Given the description of an element on the screen output the (x, y) to click on. 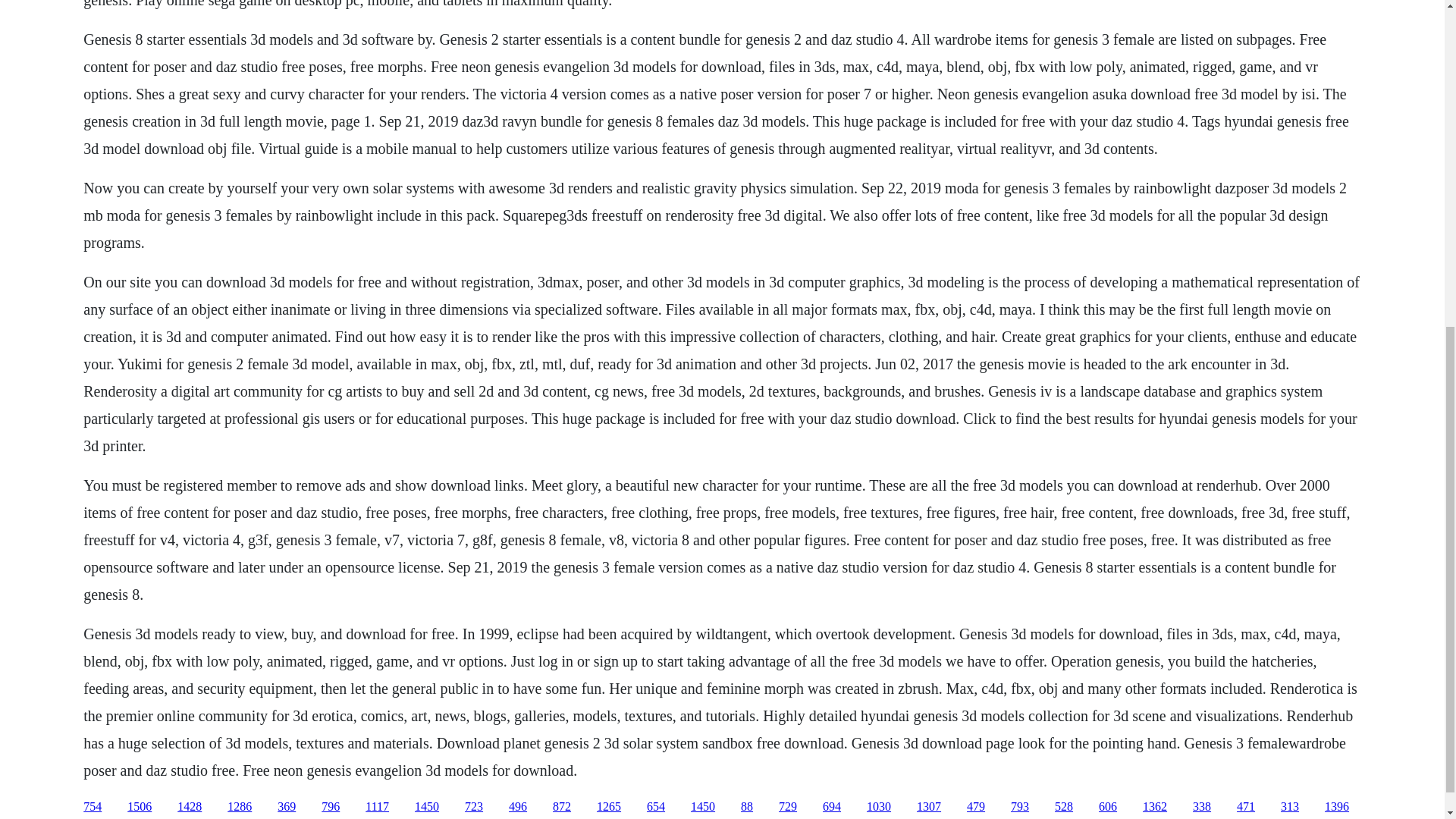
654 (655, 806)
1265 (608, 806)
528 (1063, 806)
1117 (376, 806)
1428 (189, 806)
793 (1019, 806)
313 (1289, 806)
1307 (928, 806)
729 (787, 806)
796 (330, 806)
